Given the description of an element on the screen output the (x, y) to click on. 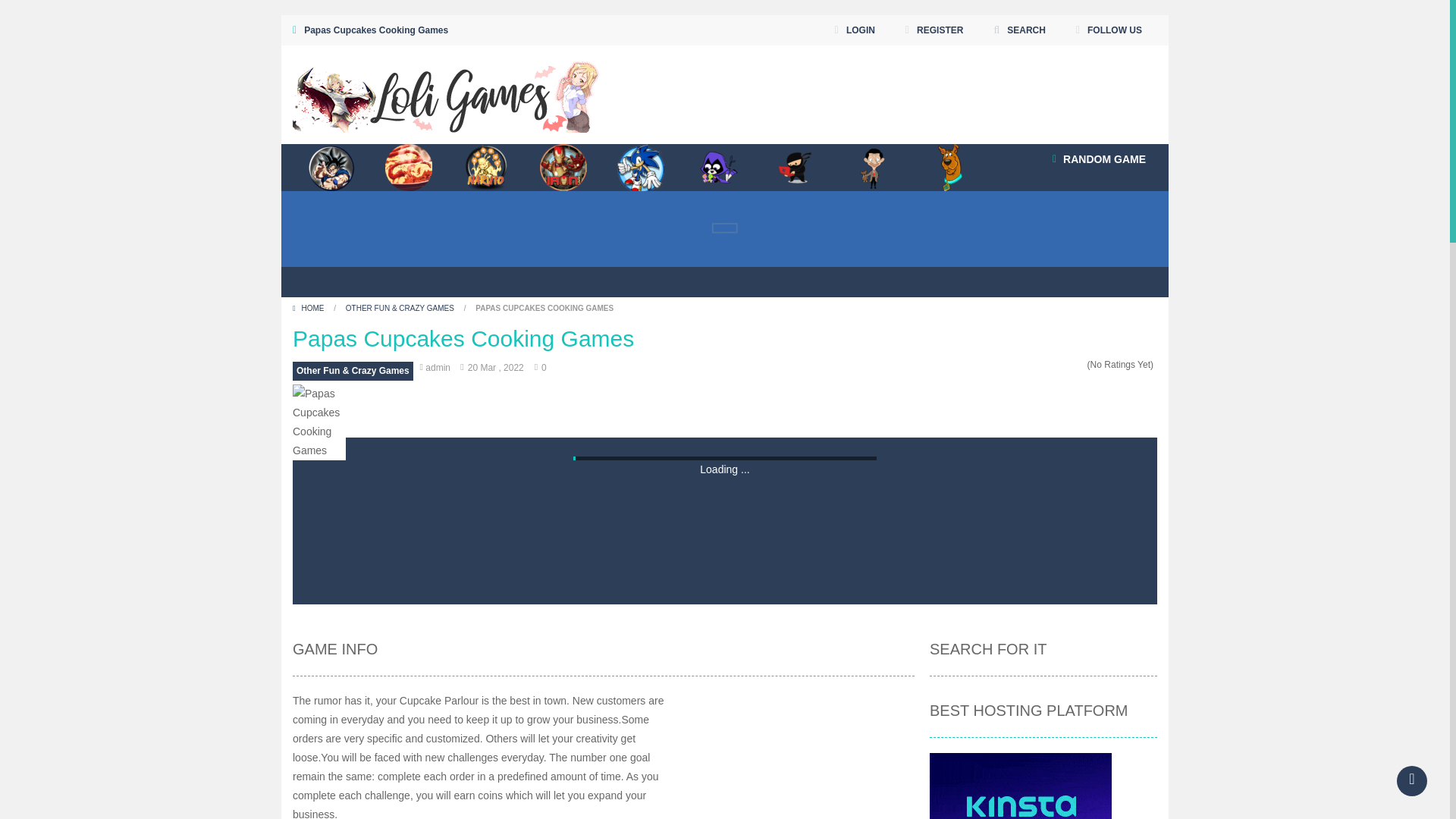
LOGIN (855, 30)
REGISTER (933, 30)
FOLLOW US (1108, 30)
SEARCH (1019, 30)
Loli Games (446, 94)
Loli Games (446, 93)
RANDOM GAME (1099, 159)
Play a random game! (1099, 159)
